Given the description of an element on the screen output the (x, y) to click on. 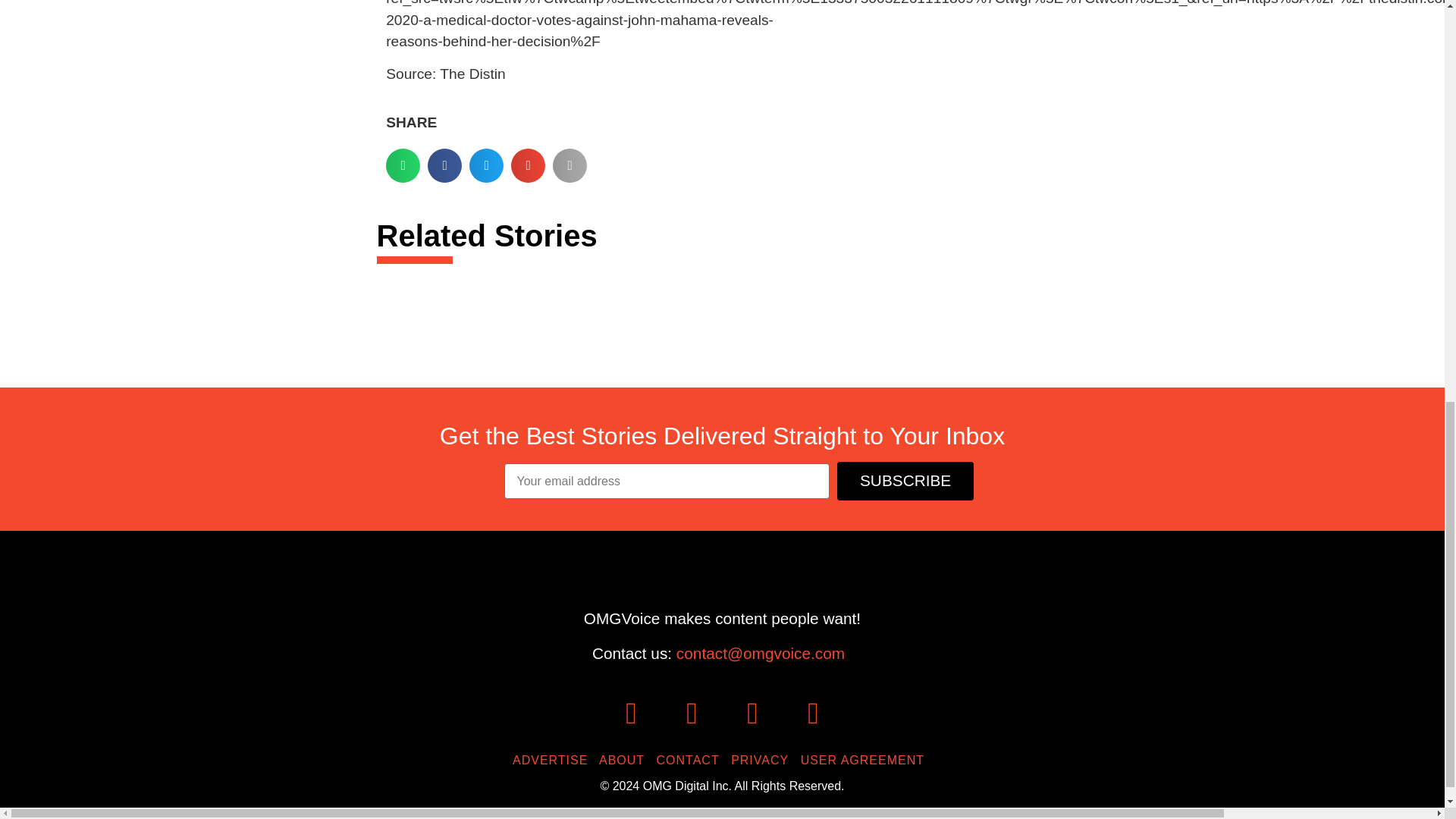
SUBSCRIBE (905, 480)
PRIVACY (763, 759)
ADVERTISE (553, 759)
USER AGREEMENT (865, 759)
CONTACT (691, 759)
ABOUT (625, 759)
